Given the description of an element on the screen output the (x, y) to click on. 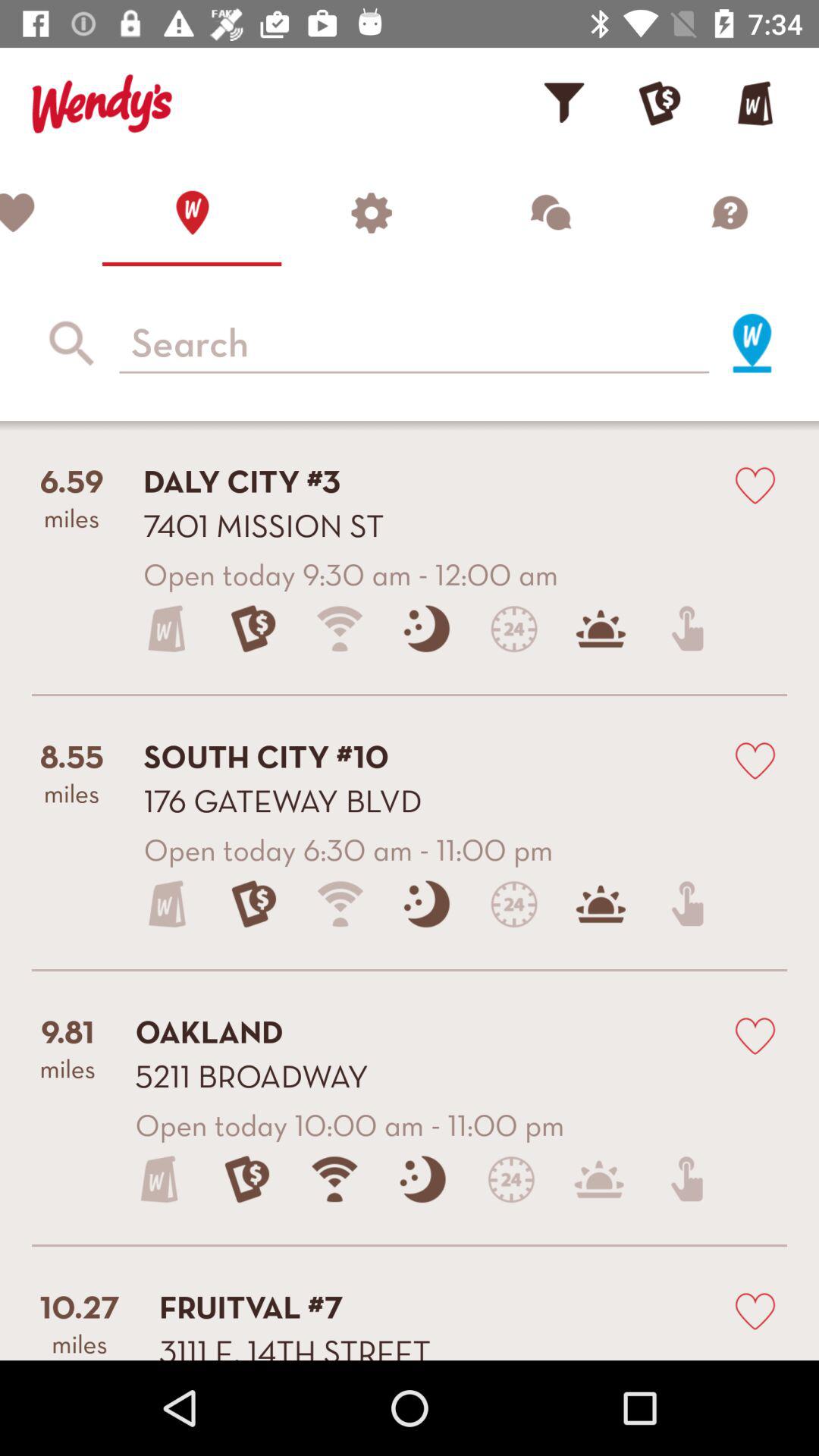
go to messages (549, 212)
